Given the description of an element on the screen output the (x, y) to click on. 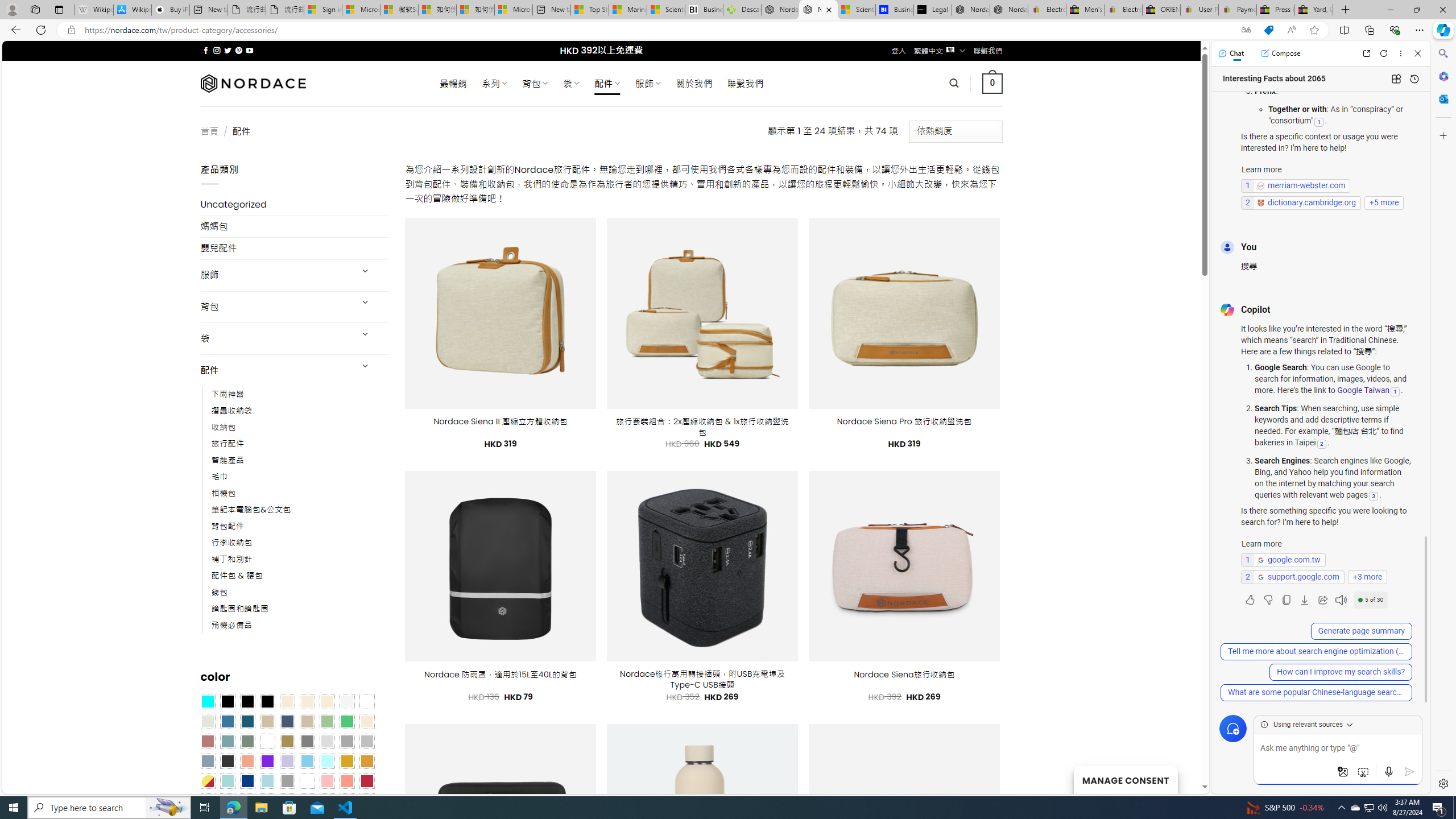
  0   (992, 83)
Top Stories - MSN (589, 9)
Compose (1280, 52)
